Given the description of an element on the screen output the (x, y) to click on. 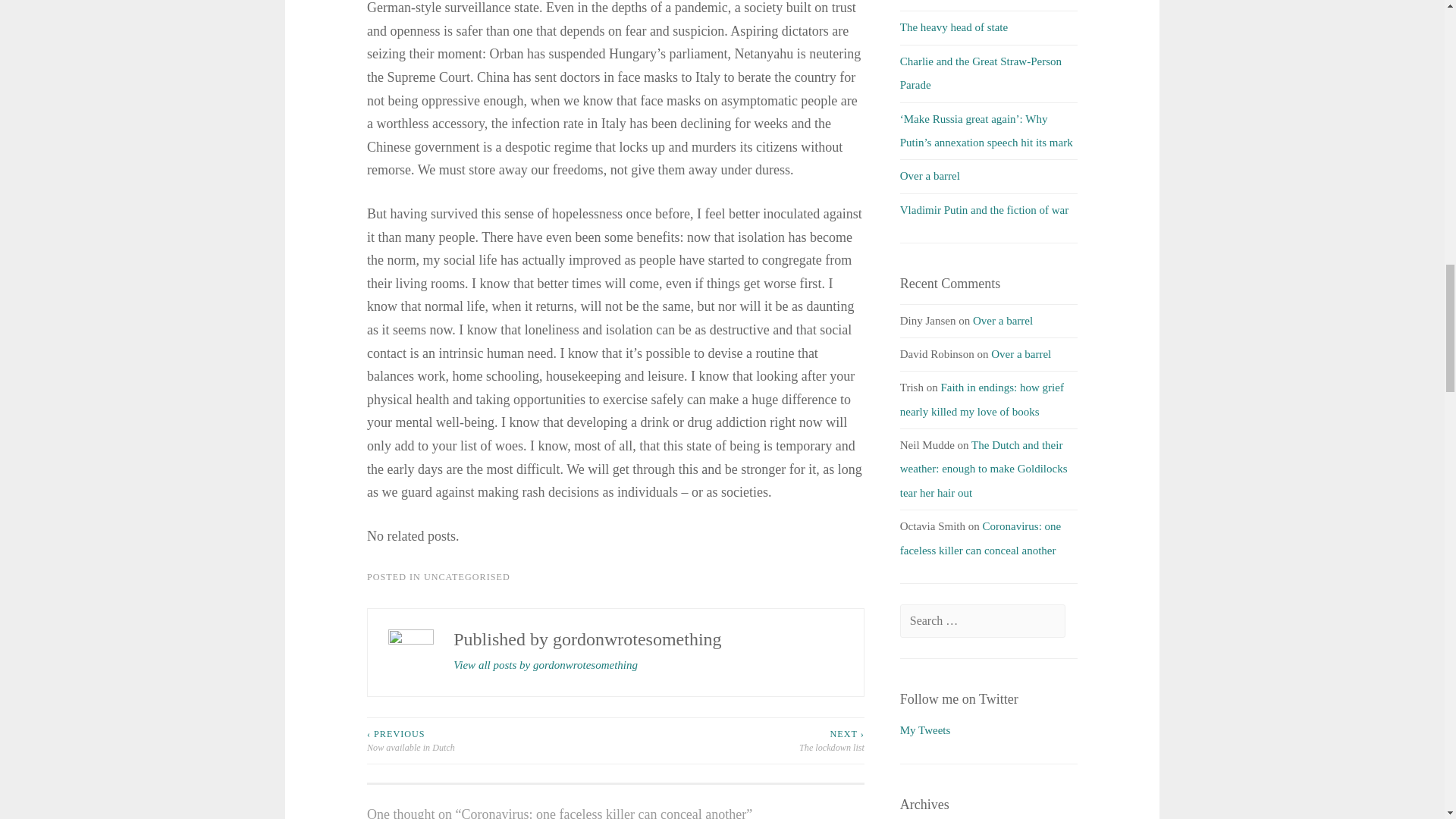
The heavy head of state (953, 27)
UNCATEGORISED (467, 576)
View all posts by gordonwrotesomething (544, 665)
Charlie and the Great Straw-Person Parade (980, 72)
